Given the description of an element on the screen output the (x, y) to click on. 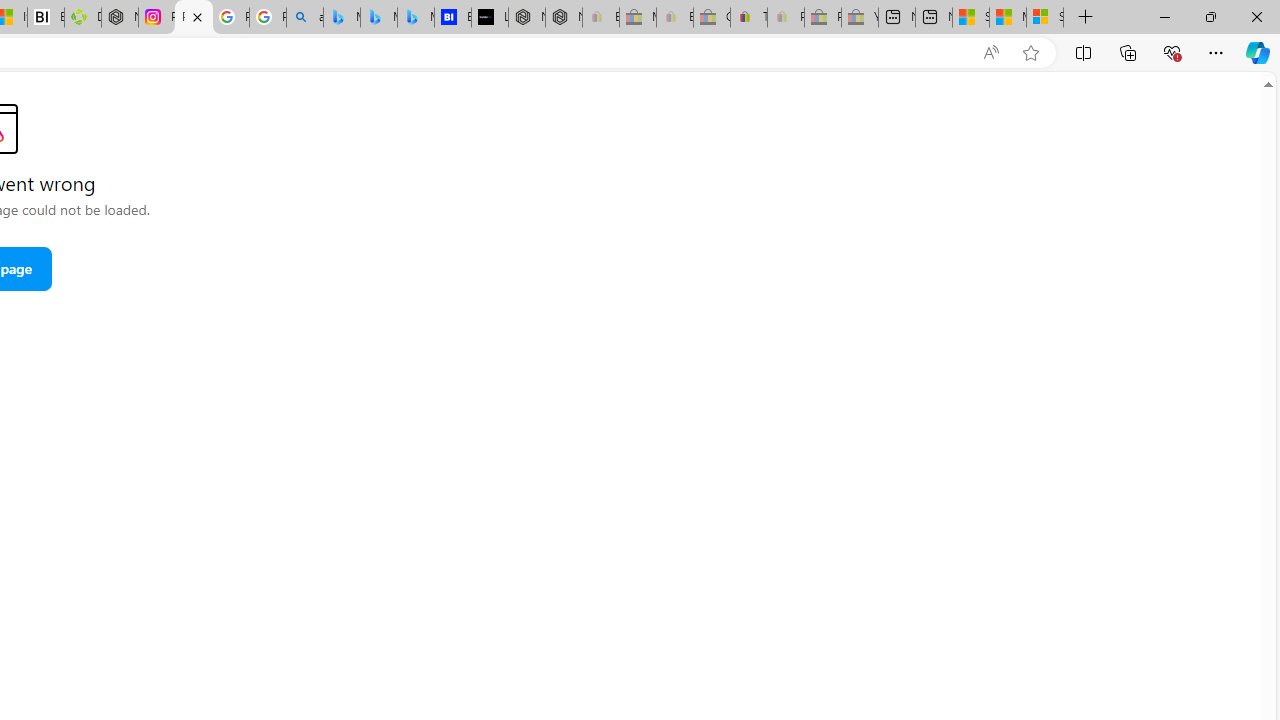
Shanghai, China hourly forecast | Microsoft Weather (971, 17)
Nordace - Nordace Edin Collection (120, 17)
Press Room - eBay Inc. - Sleeping (822, 17)
Yard, Garden & Outdoor Living - Sleeping (860, 17)
Microsoft Bing Travel - Shangri-La Hotel Bangkok (415, 17)
Payments Terms of Use | eBay.com - Sleeping (785, 17)
